Given the description of an element on the screen output the (x, y) to click on. 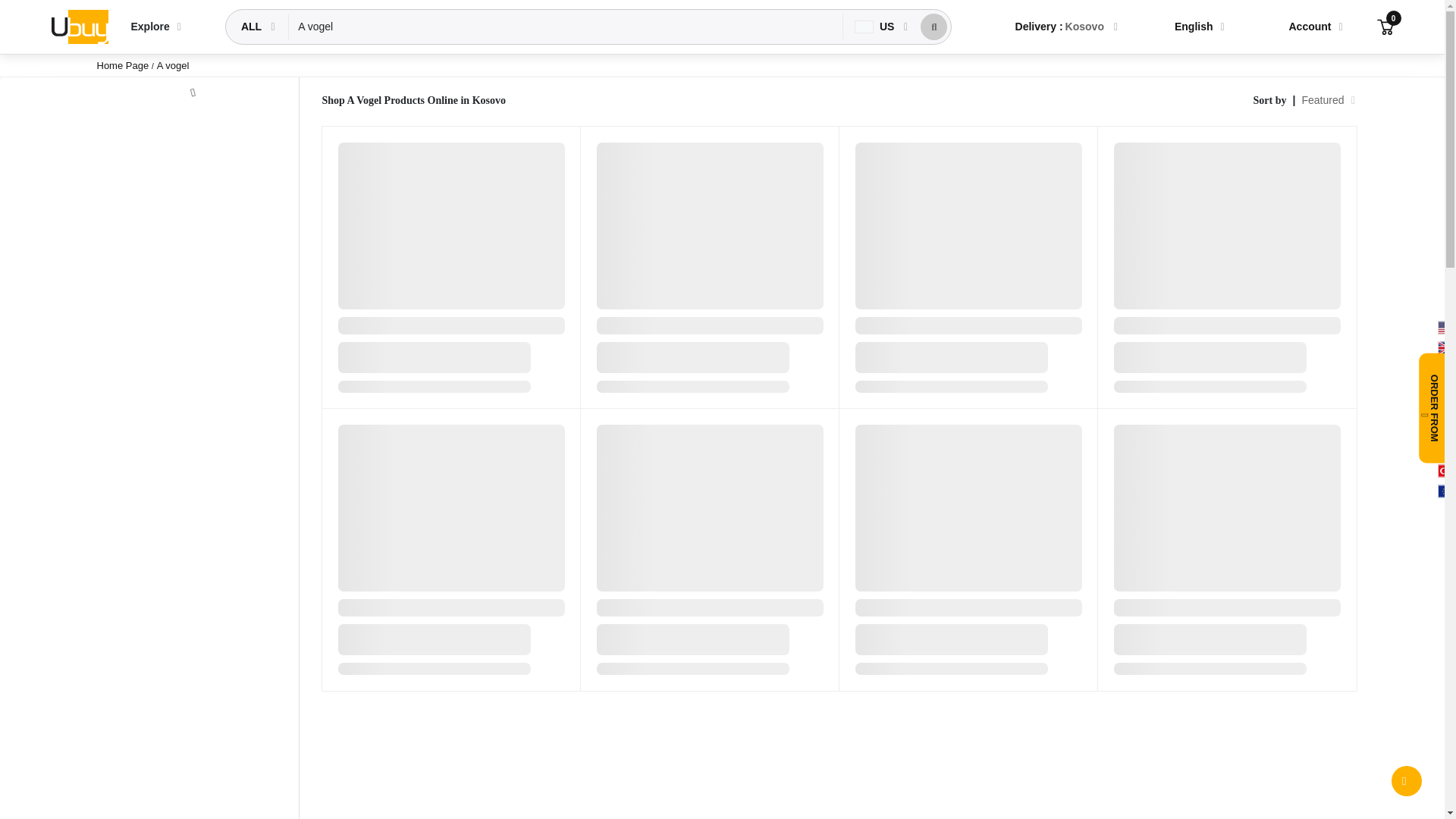
US (875, 26)
A vogel (565, 26)
Ubuy (78, 26)
ALL (253, 26)
0 (1385, 26)
